Given the description of an element on the screen output the (x, y) to click on. 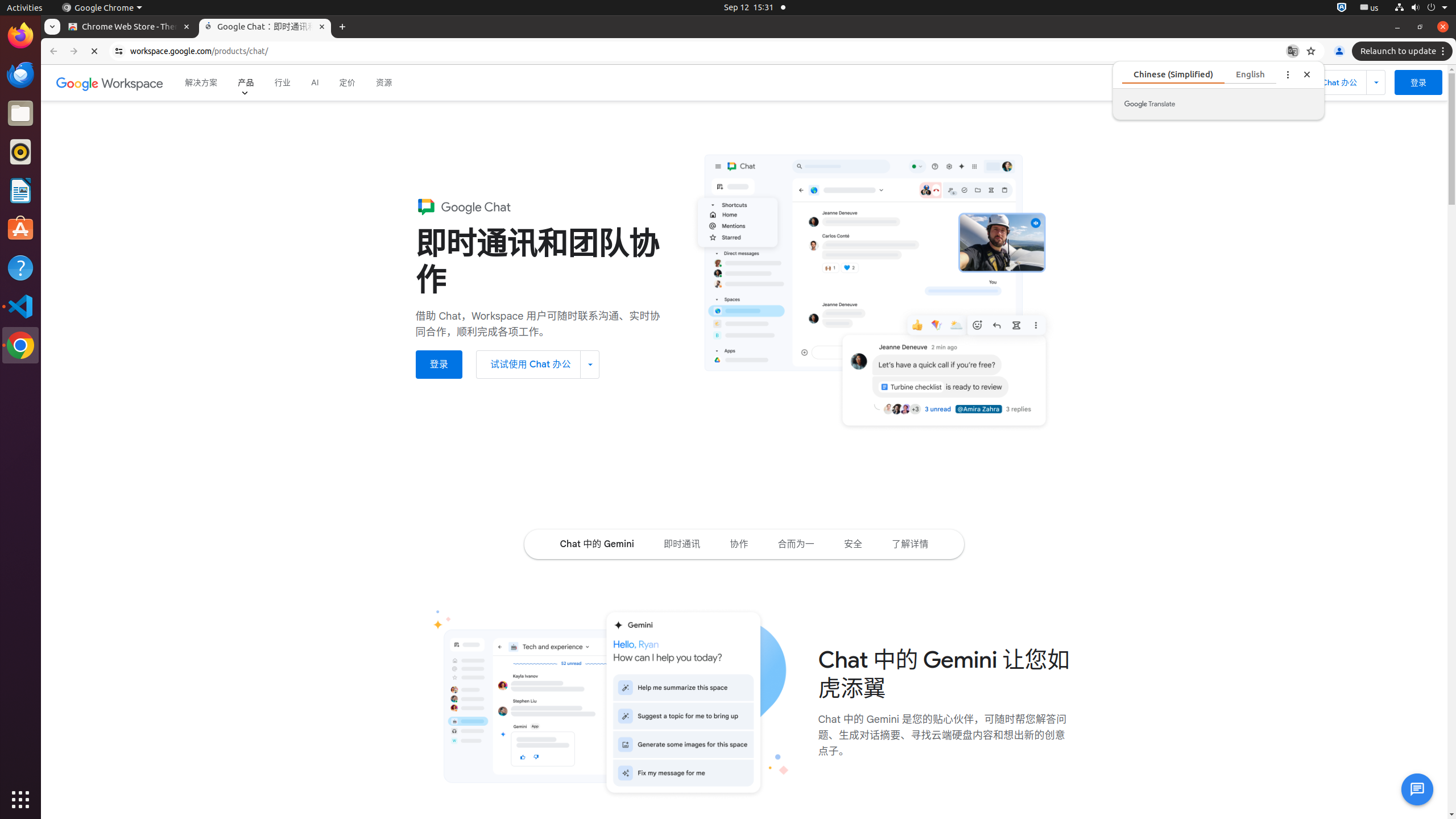
Ubuntu Software Element type: push-button (20, 229)
跳至本页面的“合而为一”部分 Element type: link (795, 543)
跳至本页面的“即时通讯”部分 Element type: link (681, 543)
Translate this page Element type: push-button (1292, 51)
跳至本页面的“安全”部分 Element type: link (852, 543)
